Given the description of an element on the screen output the (x, y) to click on. 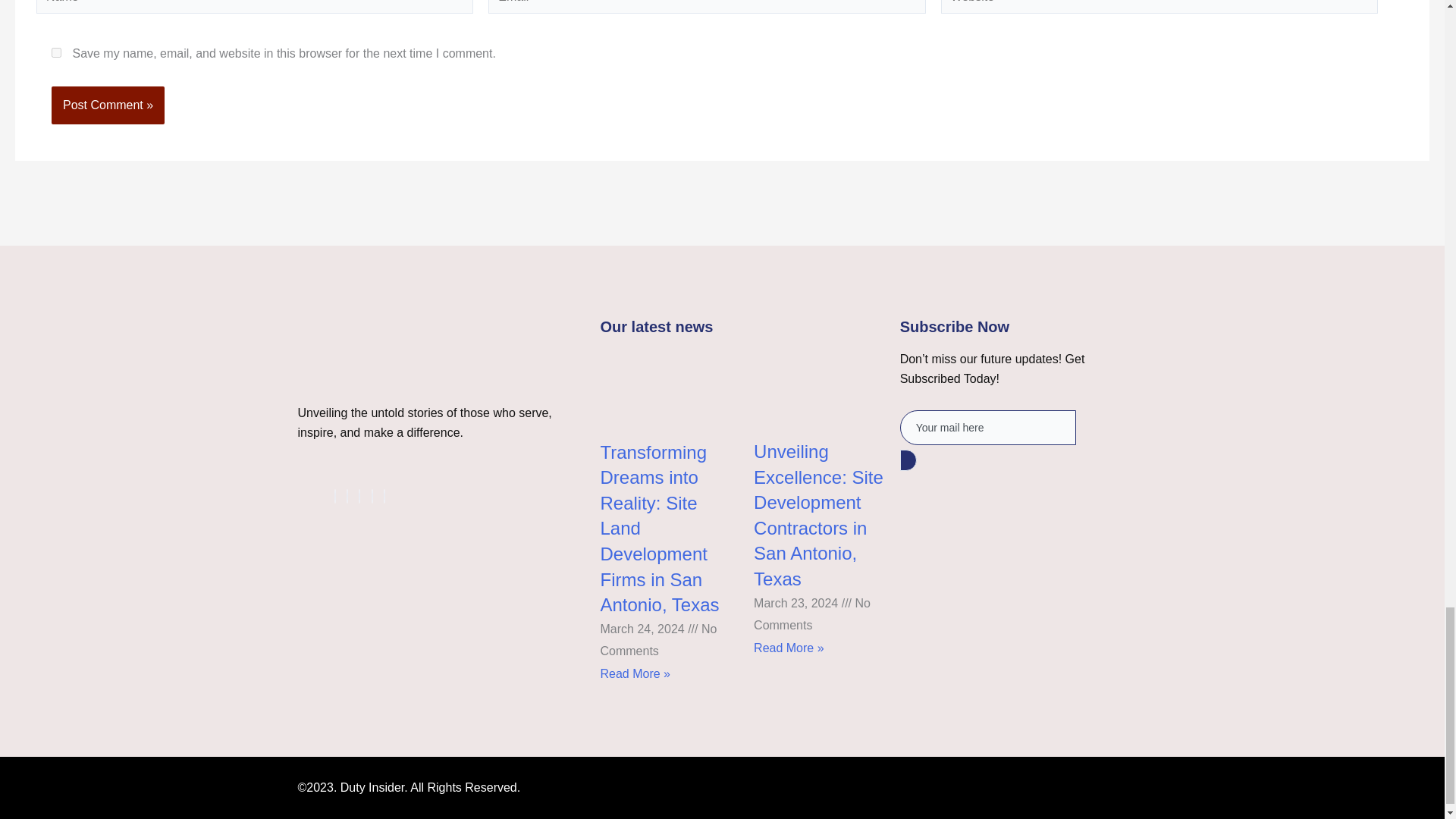
yes (55, 52)
